Given the description of an element on the screen output the (x, y) to click on. 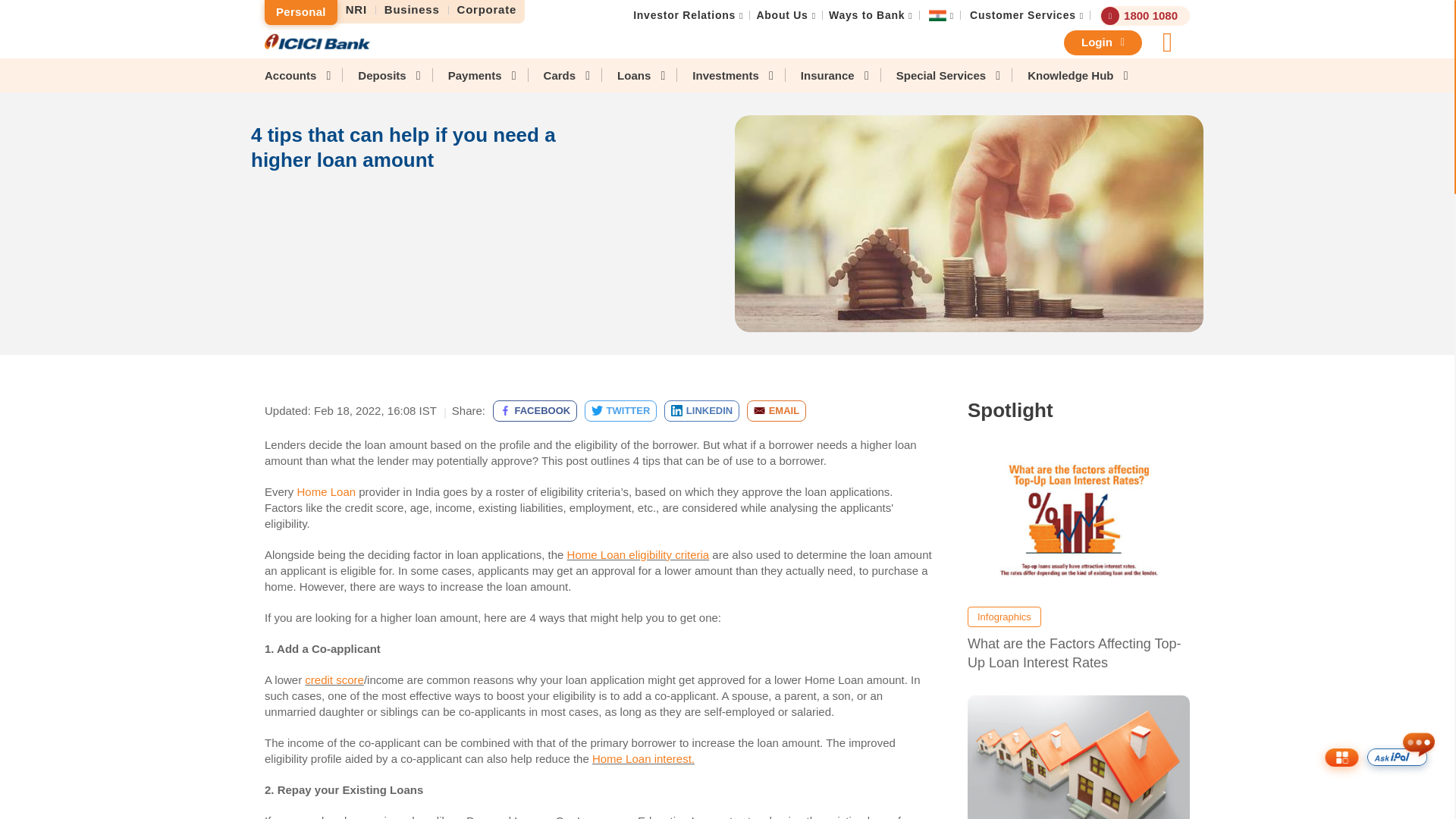
NRI (356, 9)
About Us (781, 15)
Corporate (486, 9)
Investor Relations (684, 15)
Ways to Bank (866, 15)
Business (411, 9)
Personal (300, 12)
Customer Services (1022, 15)
